Given the description of an element on the screen output the (x, y) to click on. 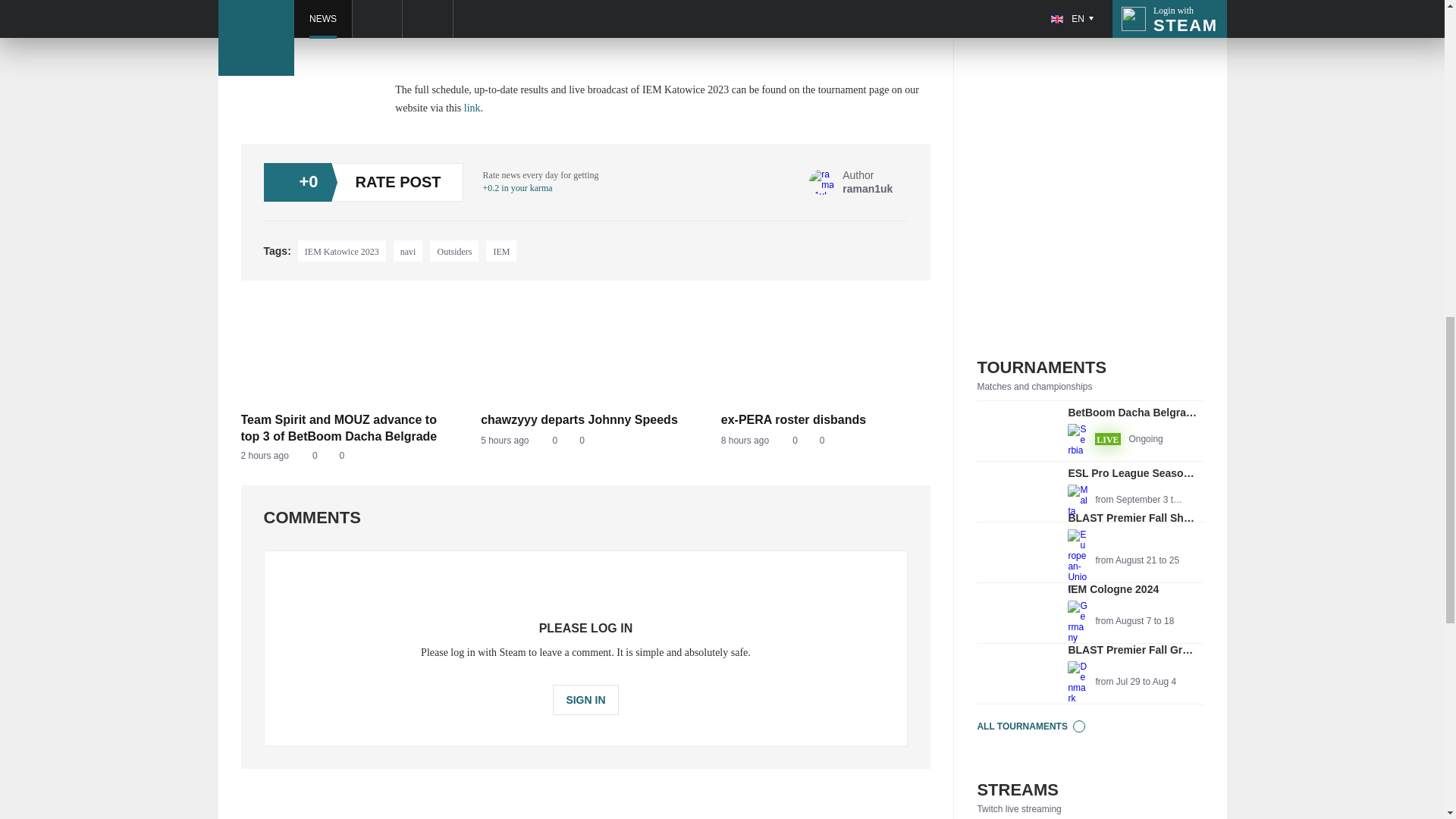
IEM (850, 181)
navi (501, 250)
ex-PERA roster disbands (346, 455)
link (1090, 613)
